Given the description of an element on the screen output the (x, y) to click on. 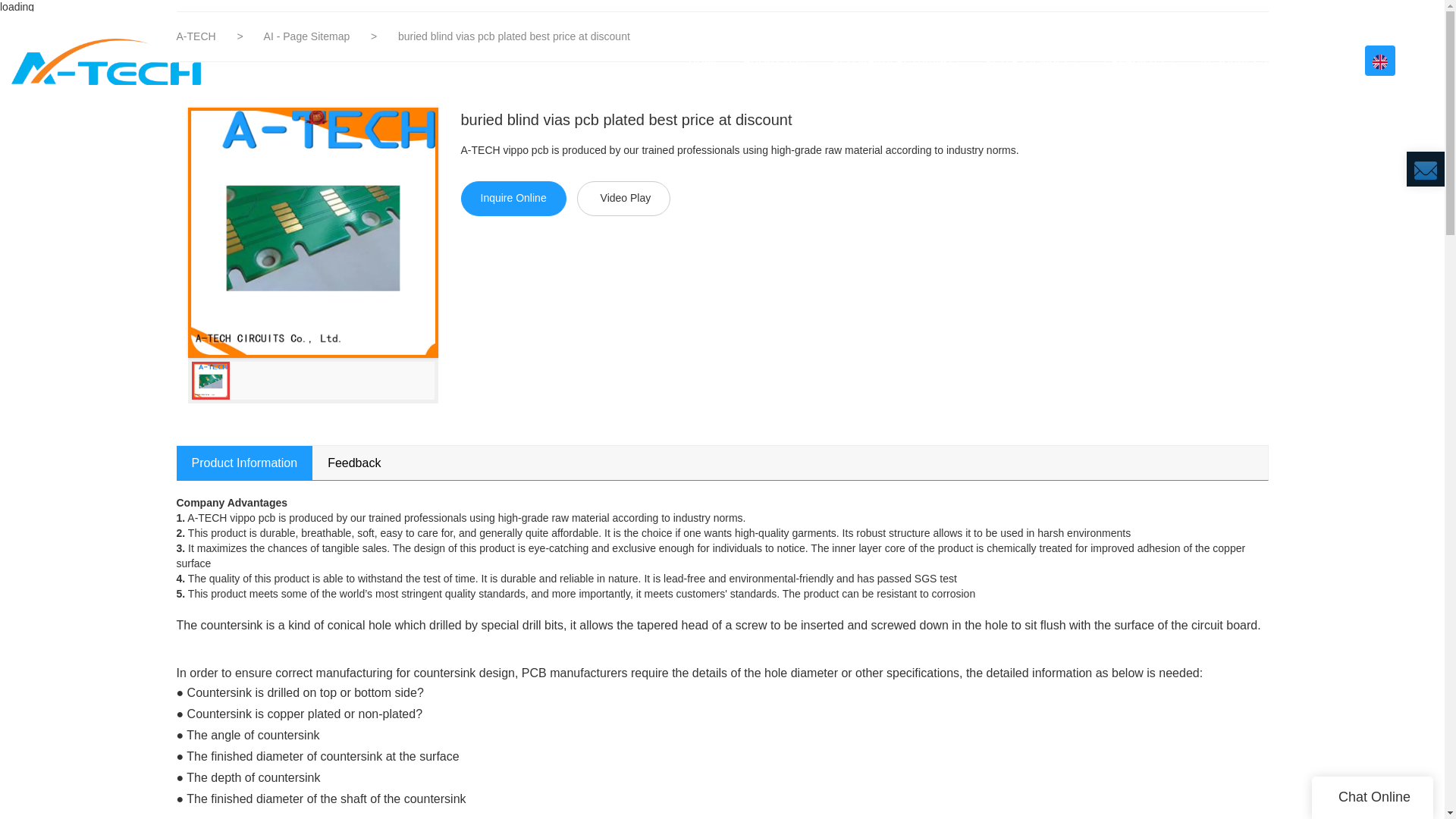
CAPABILITY (1140, 60)
RESOURCES (1239, 60)
AI - Page Sitemap (308, 36)
A-TECH (197, 36)
CONTACT US (1335, 60)
PCB ASSEMBLY (1032, 60)
PCB MANUFACTURING (897, 60)
ABOUT US (776, 60)
